Given the description of an element on the screen output the (x, y) to click on. 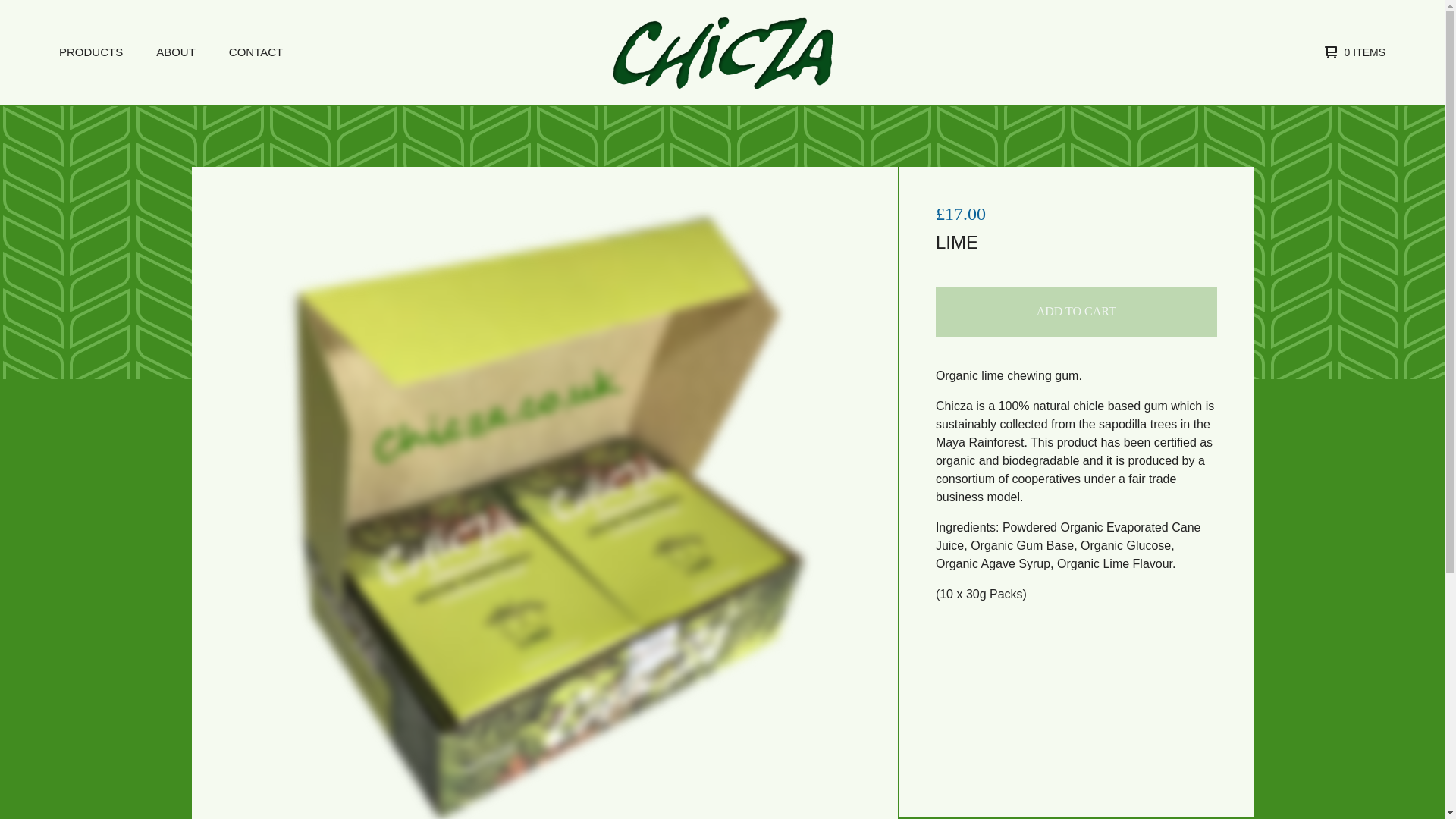
View cart (1351, 52)
Chicza.co.uk (719, 52)
ABOUT (175, 52)
0 ITEMS (1351, 52)
CONTACT (255, 52)
Add to Cart (1076, 311)
ADD TO CART (1076, 311)
PRODUCTS (91, 52)
View About (175, 52)
